Given the description of an element on the screen output the (x, y) to click on. 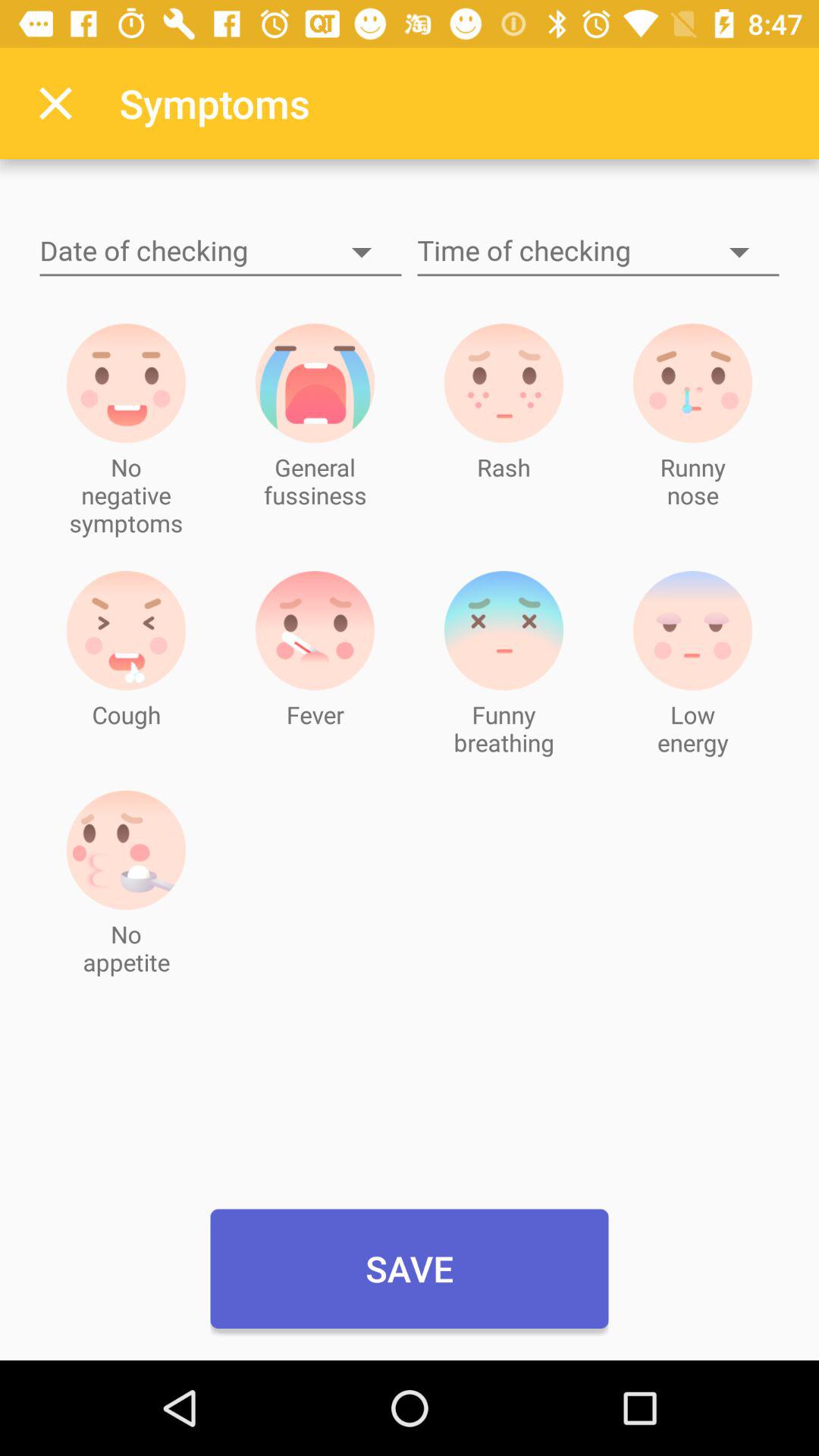
time to see the baby (598, 251)
